Given the description of an element on the screen output the (x, y) to click on. 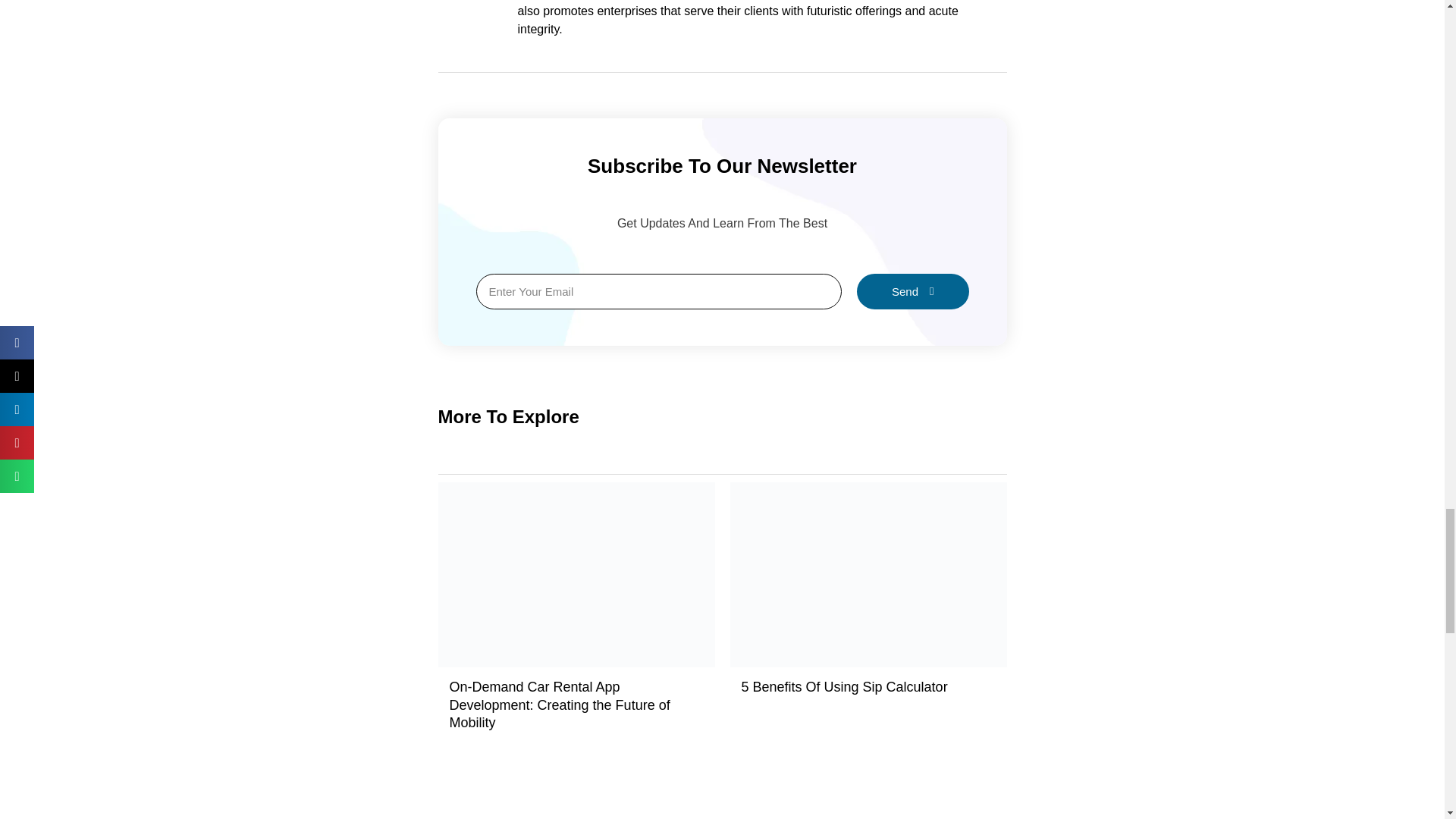
Send (913, 291)
5 Benefits Of Using Sip Calculator (844, 686)
